Given the description of an element on the screen output the (x, y) to click on. 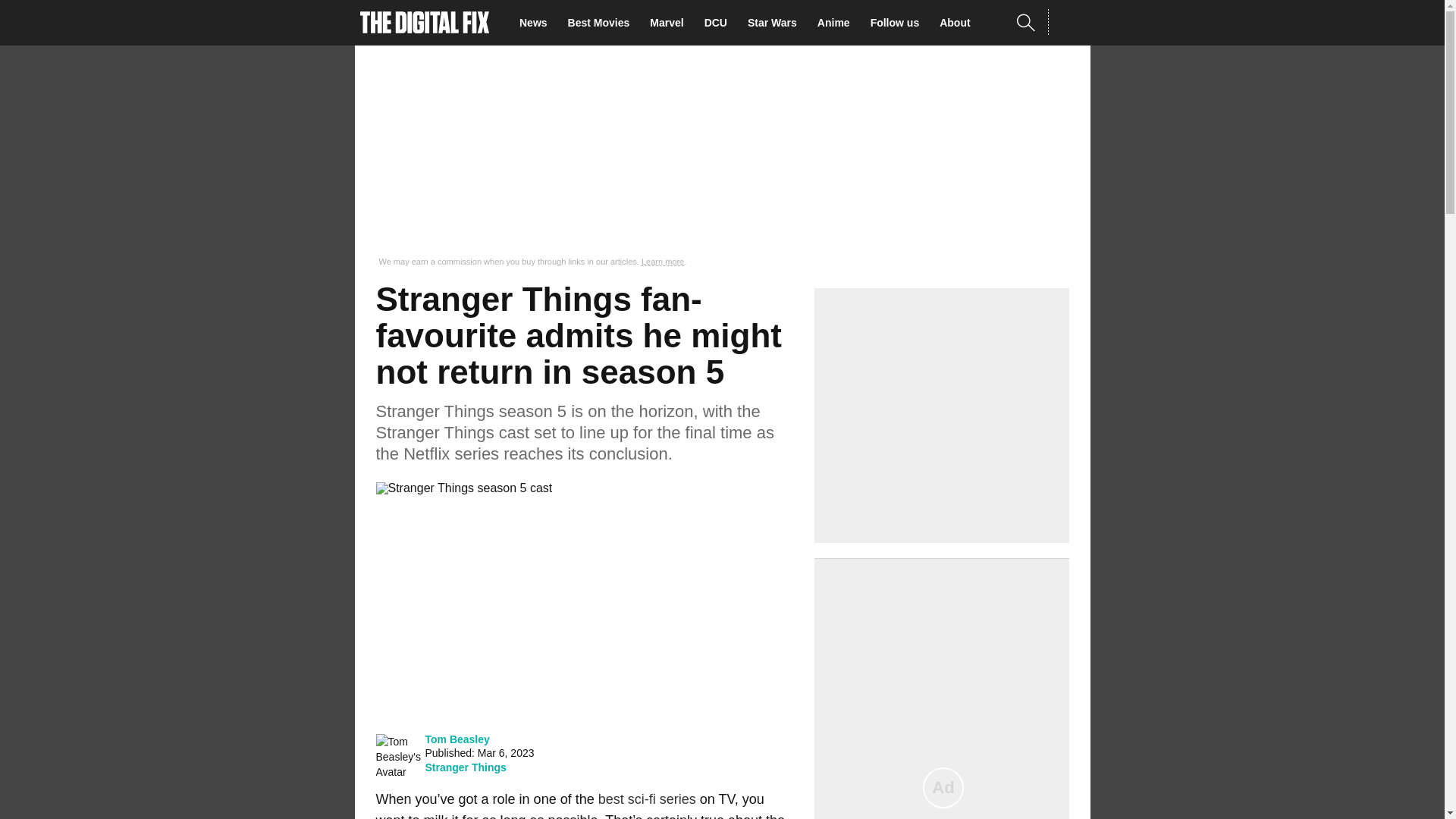
Best Movies (603, 22)
Anime (837, 22)
Marvel (671, 22)
Marvel Cinematic Universe News (671, 22)
The Digital Fix (424, 22)
Follow us (899, 22)
best sci-fi series (646, 798)
Stranger Things (465, 767)
Anime News (837, 22)
Network N Media (1068, 22)
